Given the description of an element on the screen output the (x, y) to click on. 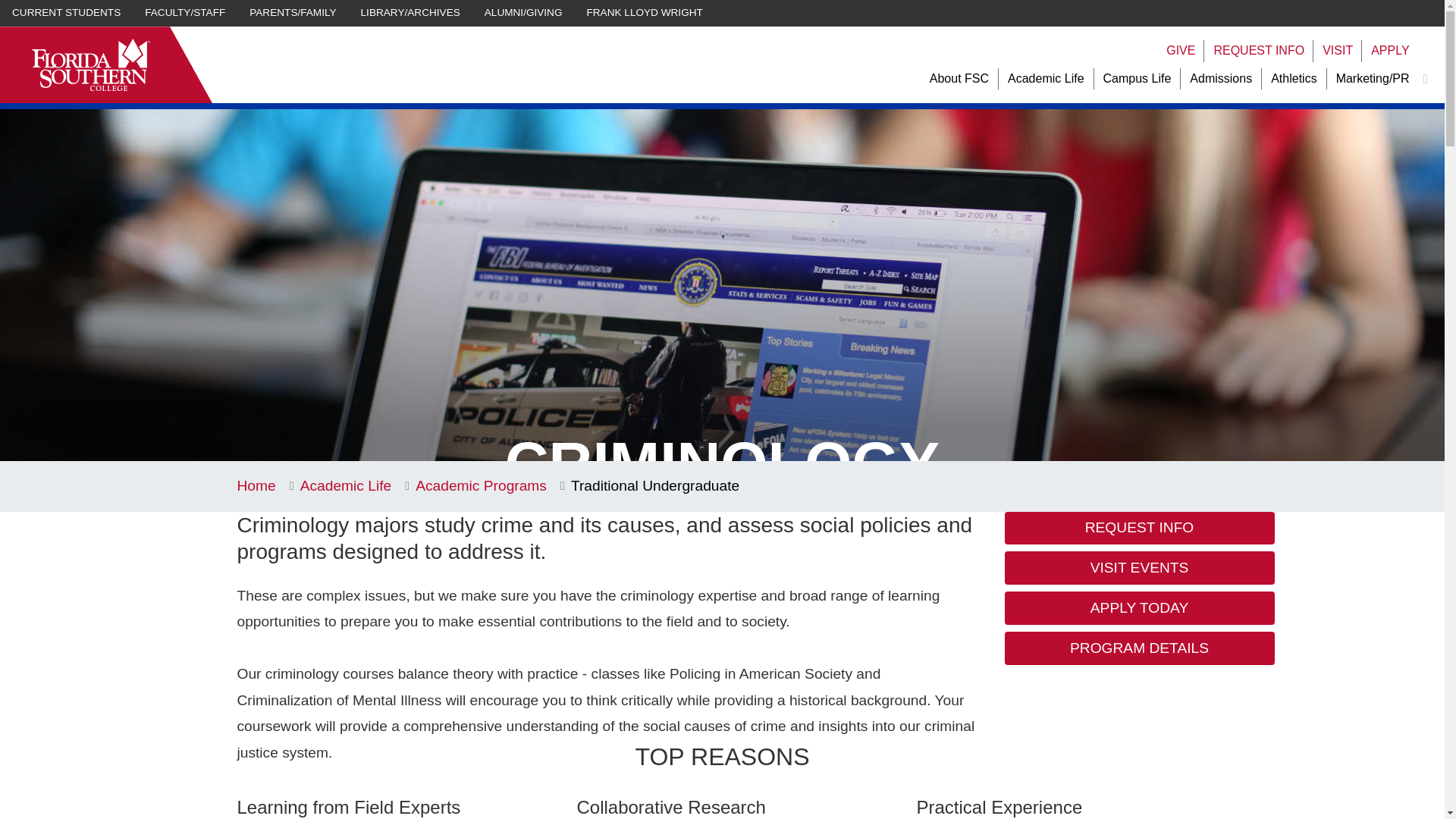
Academic Life (1045, 78)
Athletics (1293, 78)
APPLY (1390, 51)
Admissions (1220, 78)
Campus Life (1137, 78)
VISIT (1337, 51)
GIVE (1180, 51)
FRANK LLOYD WRIGHT (644, 13)
REQUEST INFO (1258, 51)
CURRENT STUDENTS (65, 13)
